Given the description of an element on the screen output the (x, y) to click on. 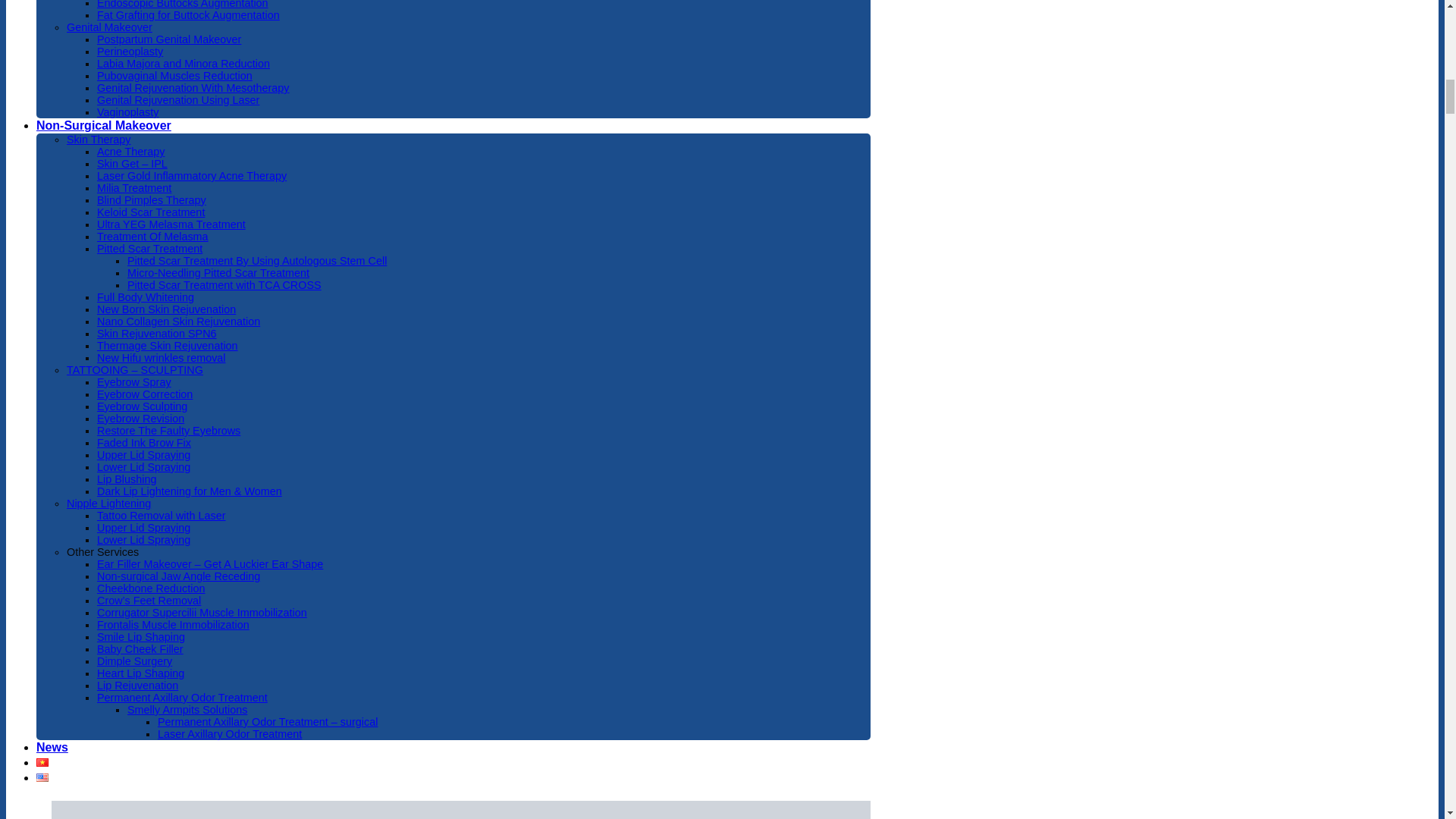
English (42, 777)
